Given the description of an element on the screen output the (x, y) to click on. 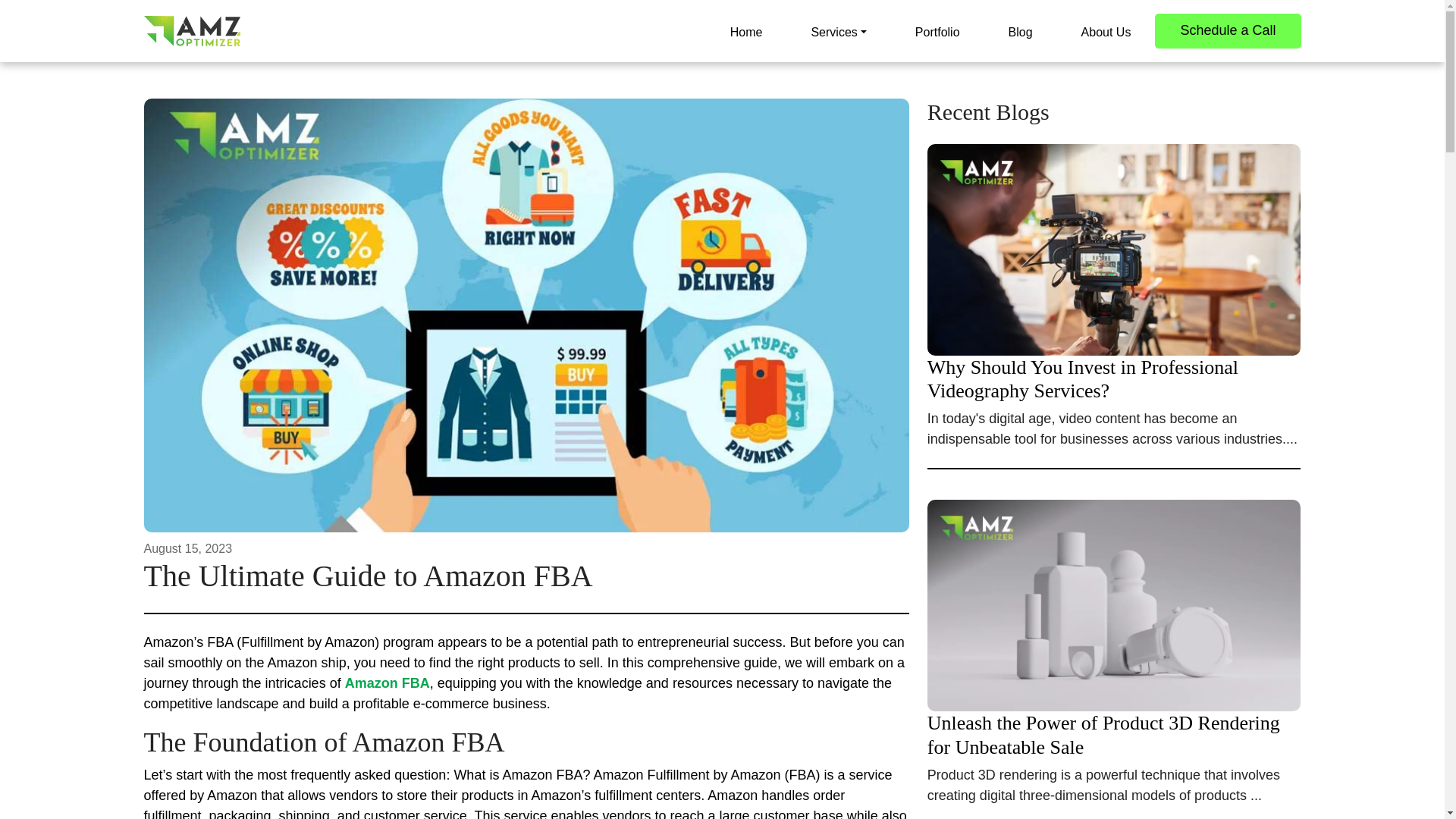
Amazon FBA (387, 683)
Portfolio (937, 30)
About Us (1105, 30)
Why Should You Invest in Professional Videography Services? (1114, 322)
Schedule a Call (1227, 30)
Services (837, 30)
Blog (1020, 30)
Home (745, 30)
